Given the description of an element on the screen output the (x, y) to click on. 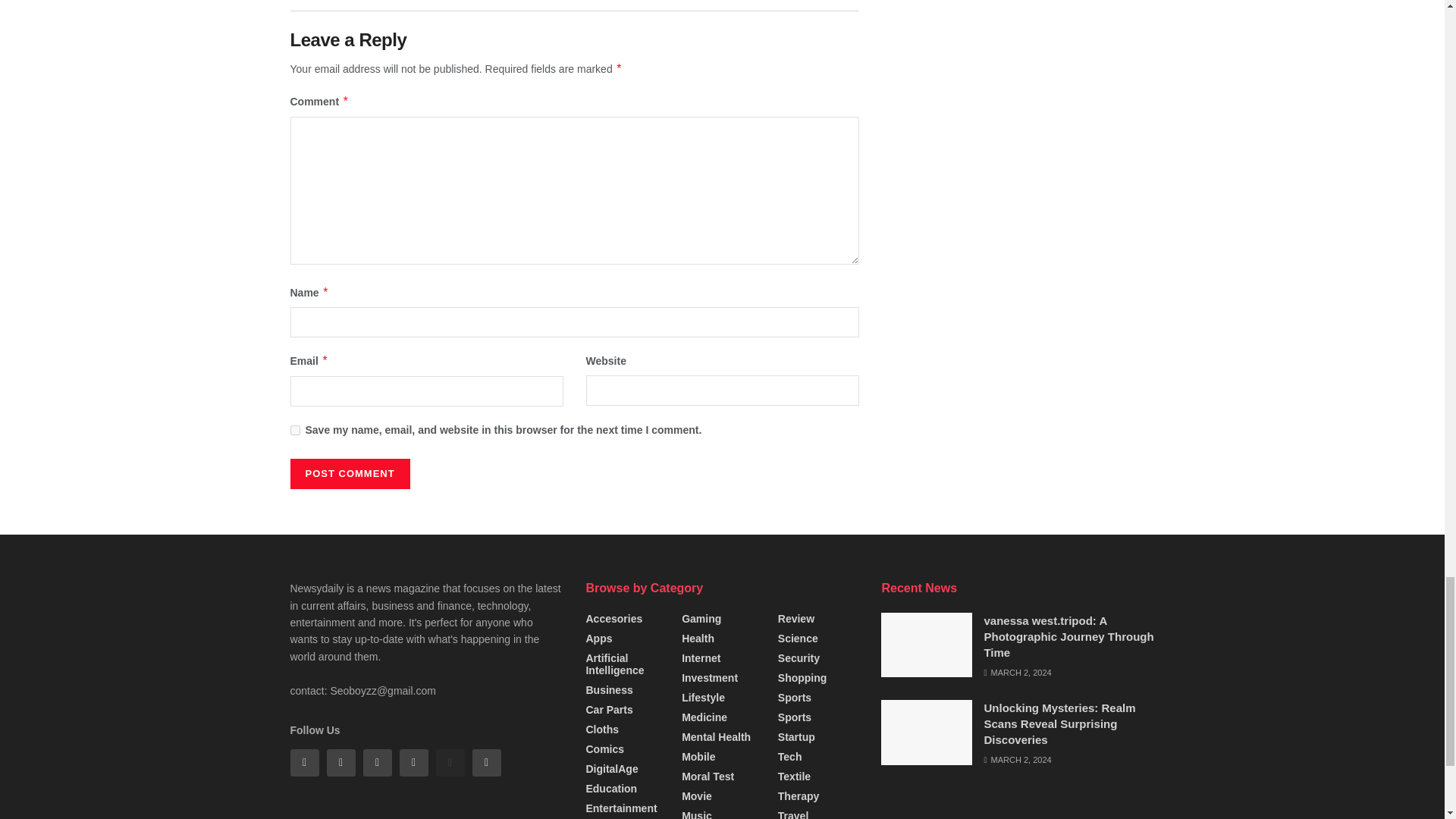
Post Comment (349, 473)
yes (294, 429)
